Given the description of an element on the screen output the (x, y) to click on. 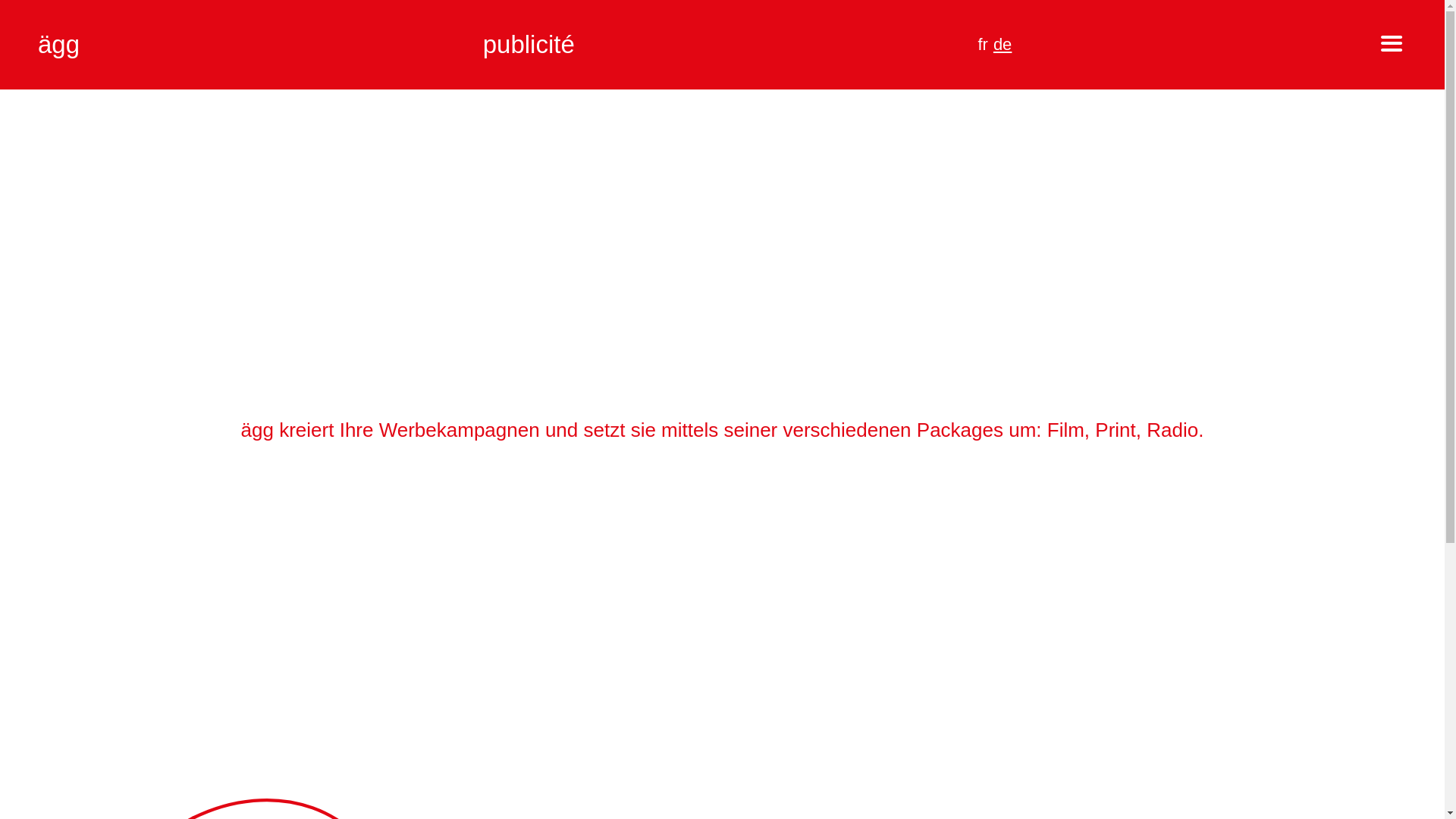
fr Element type: text (982, 43)
